Given the description of an element on the screen output the (x, y) to click on. 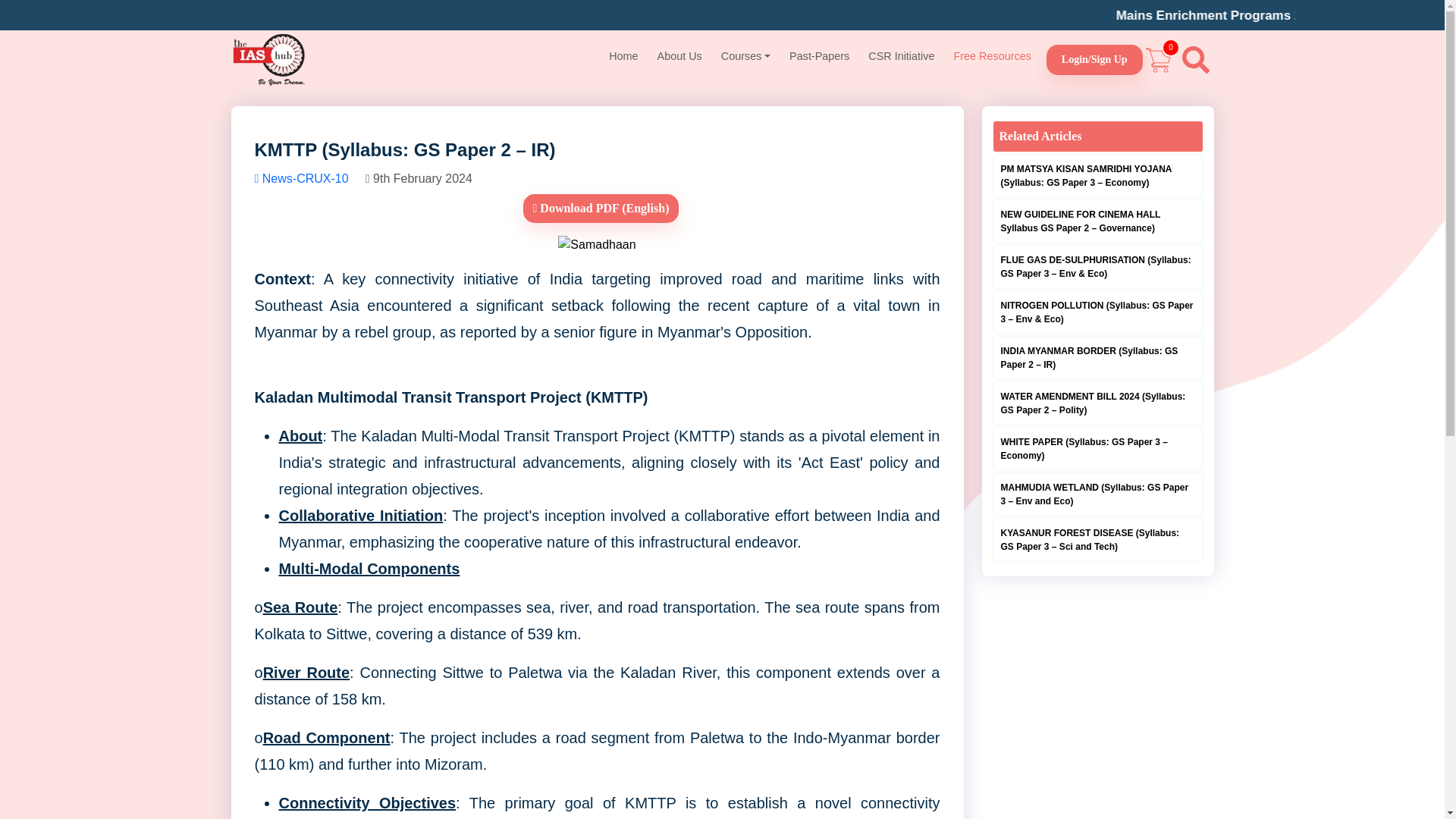
0 (1157, 58)
Courses (745, 56)
News-CRUX-10 (303, 178)
About Us (679, 56)
Free Resources (991, 56)
Past-Papers (818, 56)
Home (622, 56)
0 (1157, 58)
CSR Initiative (900, 56)
